Given the description of an element on the screen output the (x, y) to click on. 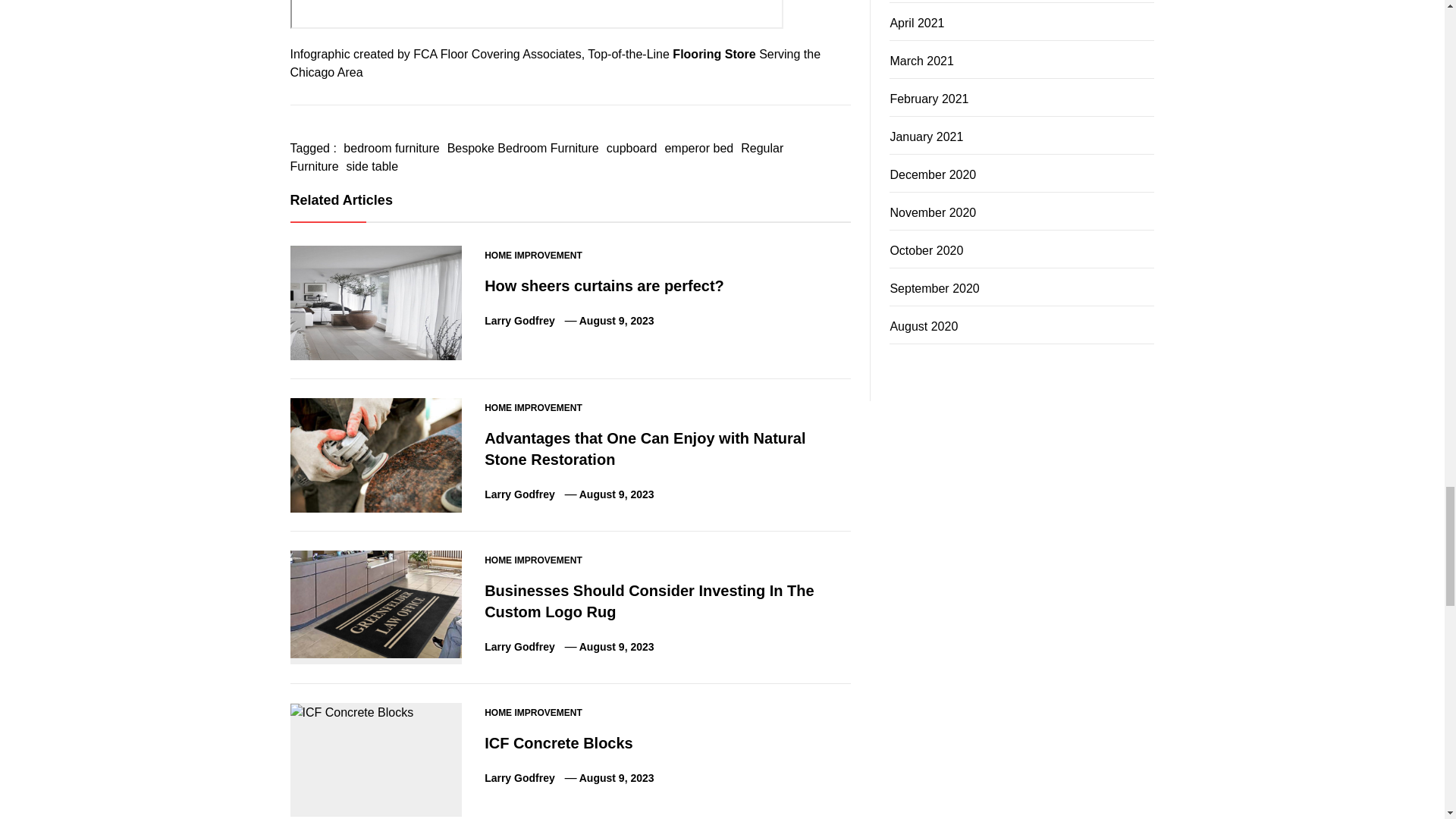
Regular Furniture (536, 156)
Flooring Store (713, 53)
bedroom furniture (390, 147)
side table (372, 165)
Bespoke Bedroom Furniture (523, 147)
HOME IMPROVEMENT (533, 255)
cupboard (631, 147)
emperor bed (698, 147)
